Given the description of an element on the screen output the (x, y) to click on. 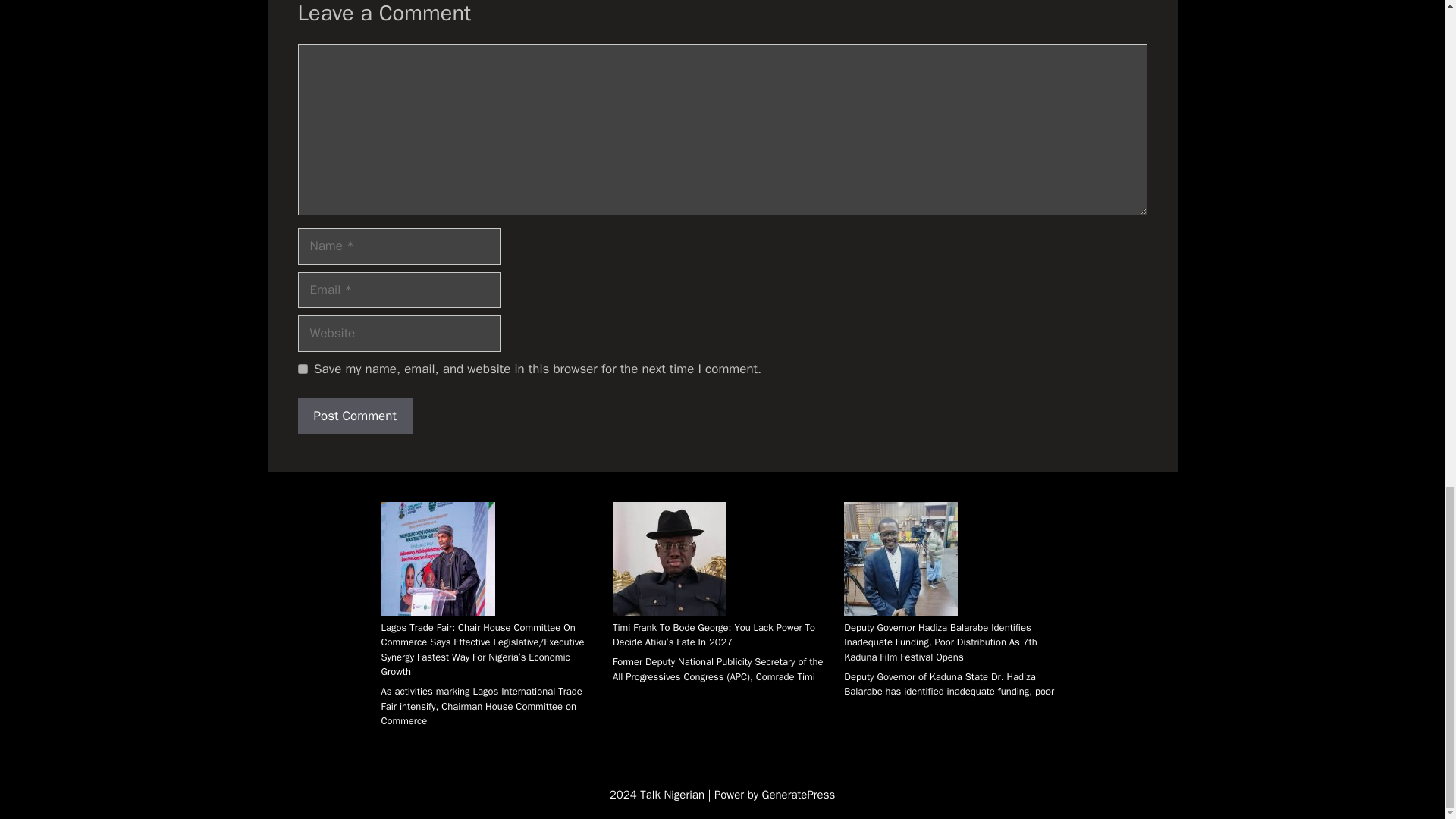
yes (302, 368)
Post Comment (354, 416)
Post Comment (354, 416)
Talk Nigerian (673, 794)
GeneratePress (798, 794)
